Given the description of an element on the screen output the (x, y) to click on. 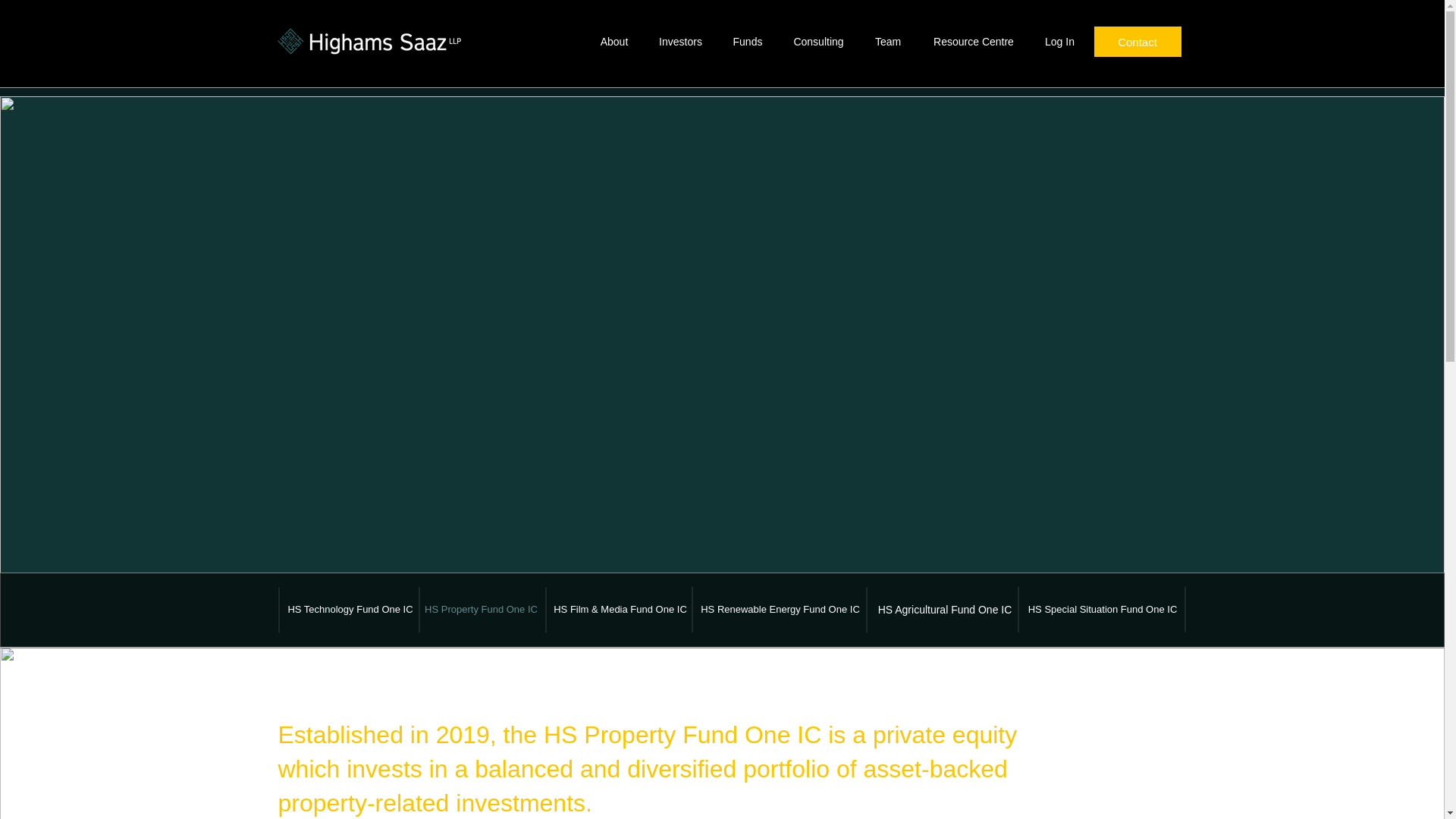
HS Renewable Energy Fund One IC (779, 610)
Investors (680, 41)
Funds (747, 41)
Contact (1136, 41)
HS Special Situation Fund One IC (1101, 610)
Log In (1059, 41)
HS Technology Fund One IC (350, 610)
Team (888, 41)
About (614, 41)
Consulting (818, 41)
